Given the description of an element on the screen output the (x, y) to click on. 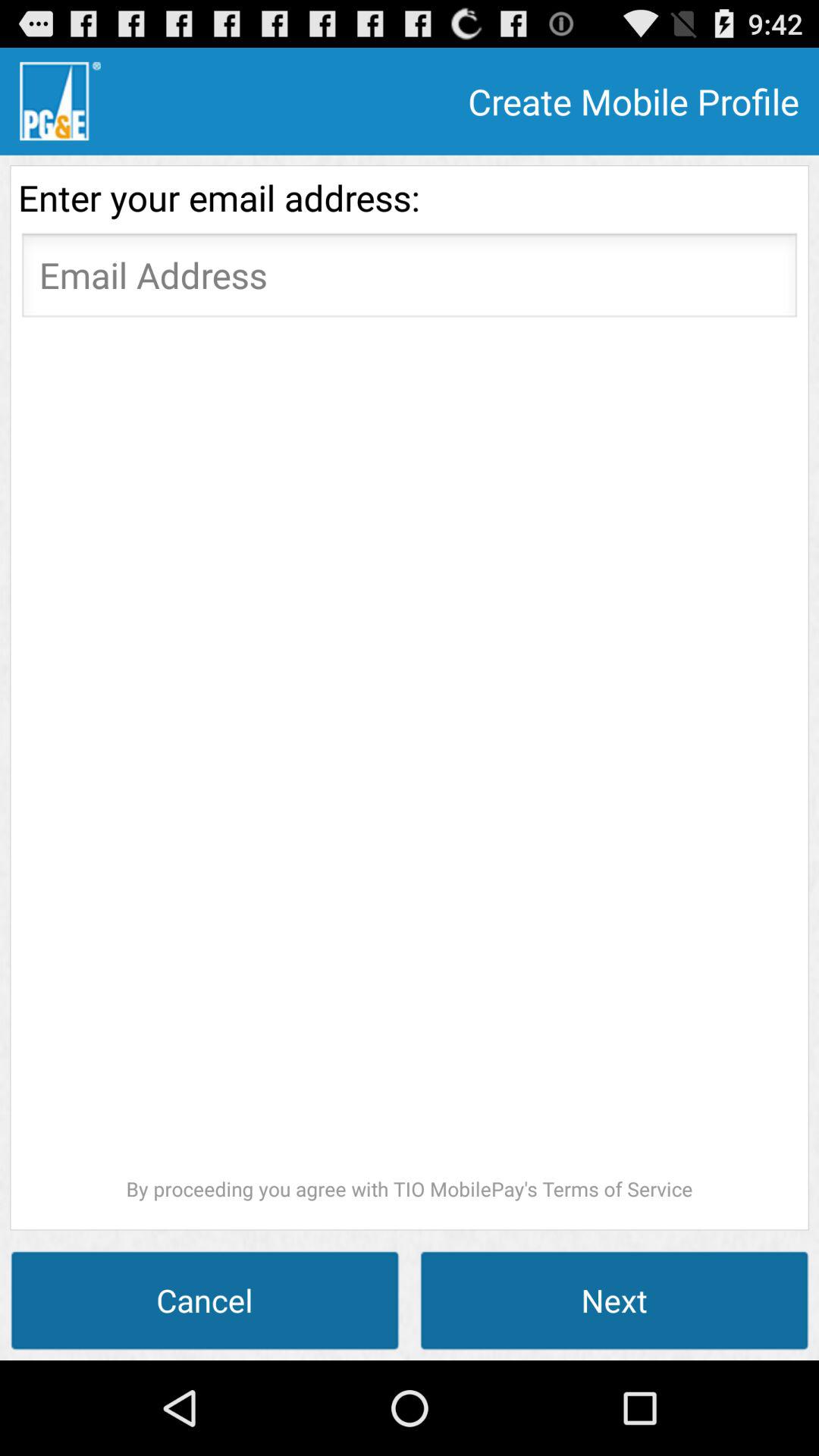
tap icon to the right of cancel item (613, 1300)
